Given the description of an element on the screen output the (x, y) to click on. 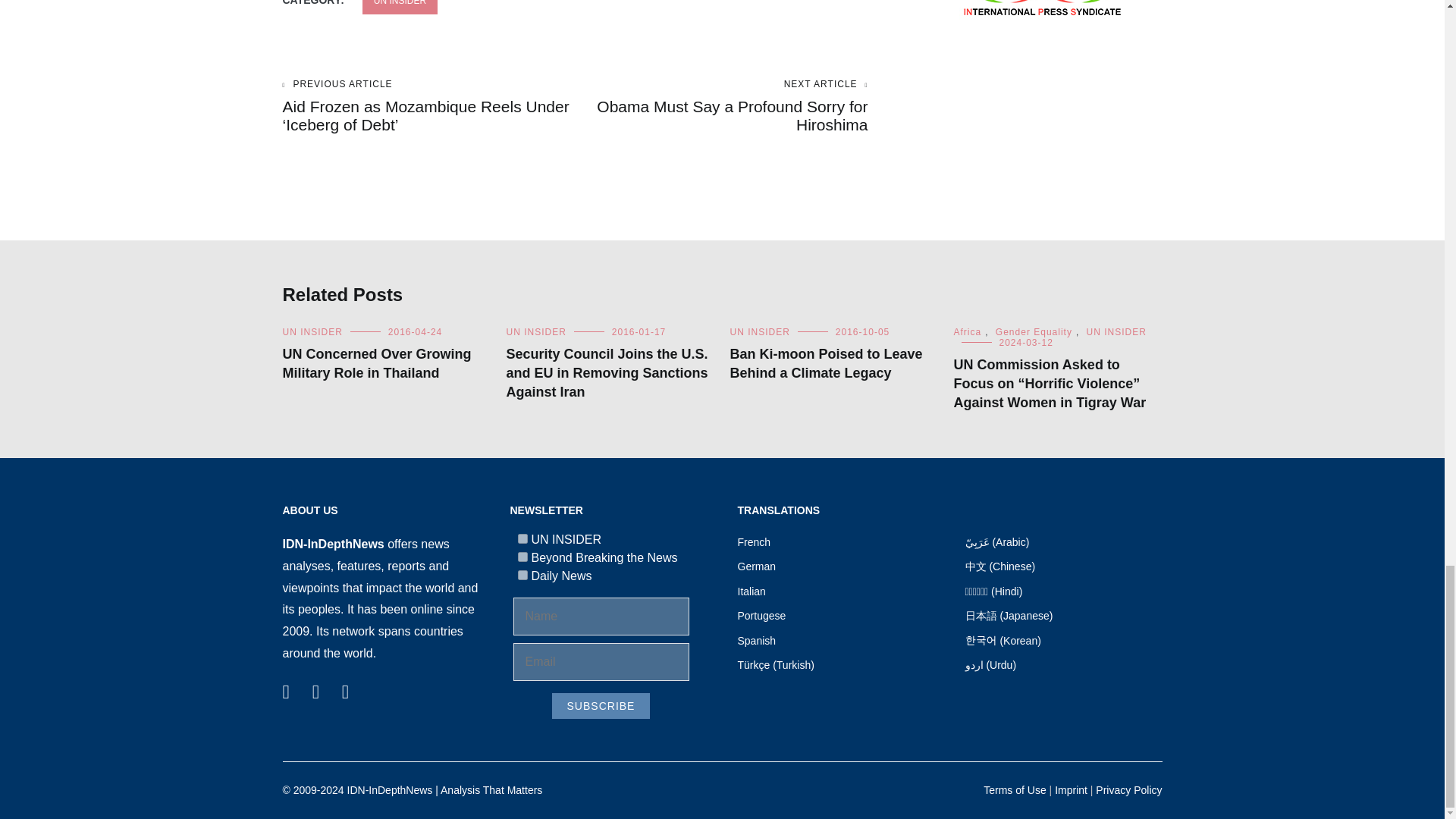
9 (521, 556)
Imprint (1070, 789)
10 (521, 574)
Terms of Use (1014, 789)
7 (521, 538)
